Given the description of an element on the screen output the (x, y) to click on. 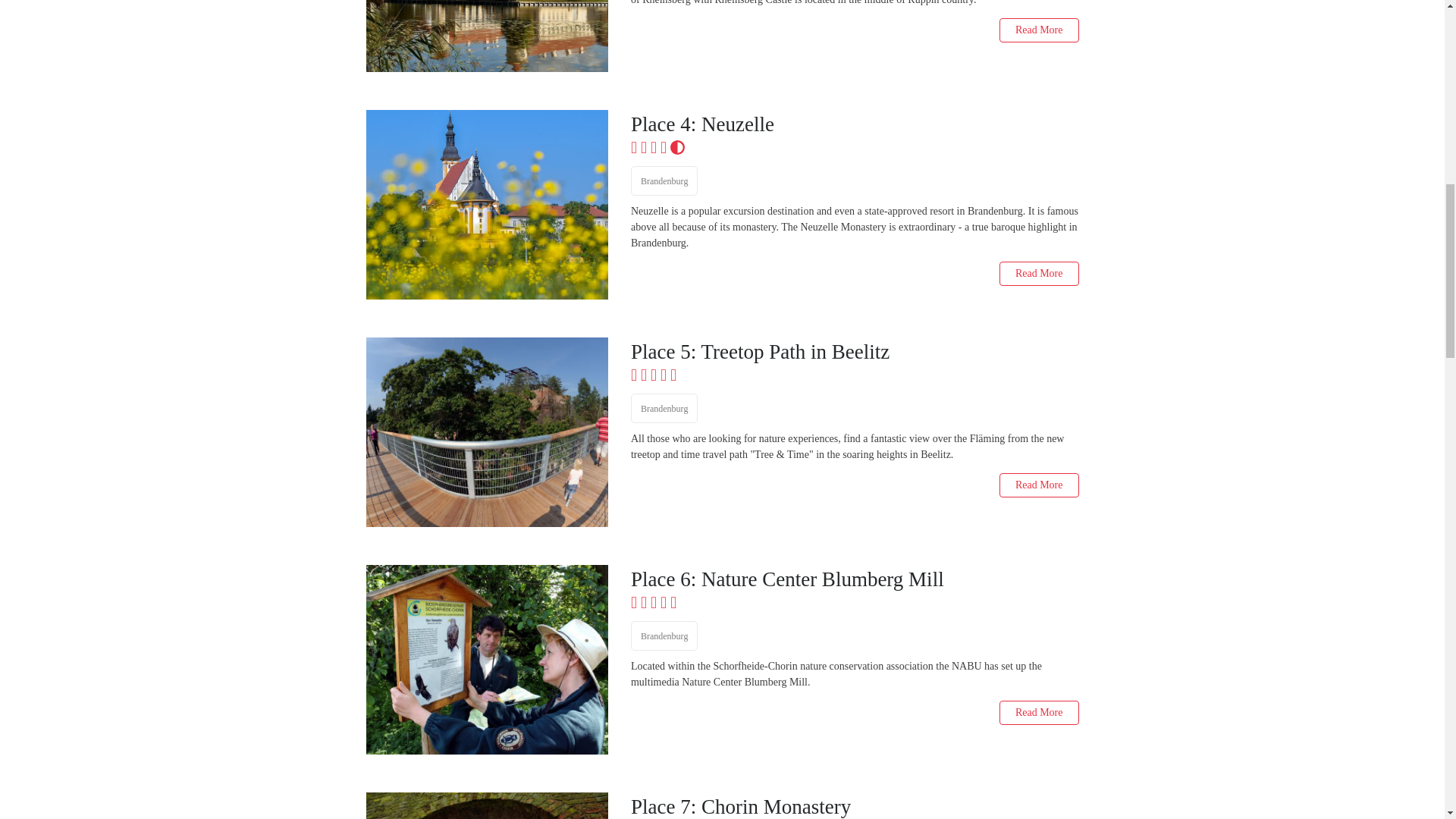
Read More (1038, 273)
Place 5: Treetop Path in Beelitz (853, 351)
Read More (1038, 30)
Brandenburg (663, 635)
Treetop Path in Beelitz (853, 351)
Neuzelle (853, 124)
Read More (1038, 273)
Place 4: Neuzelle (853, 124)
Place 7: Chorin Monastery (853, 806)
Read More (1038, 30)
Brandenburg (663, 408)
Rheinsberg with Rheinsberg Castle (486, 36)
Treetop Path in Beelitz (486, 432)
Brandenburg (663, 180)
Neuzelle (486, 204)
